Given the description of an element on the screen output the (x, y) to click on. 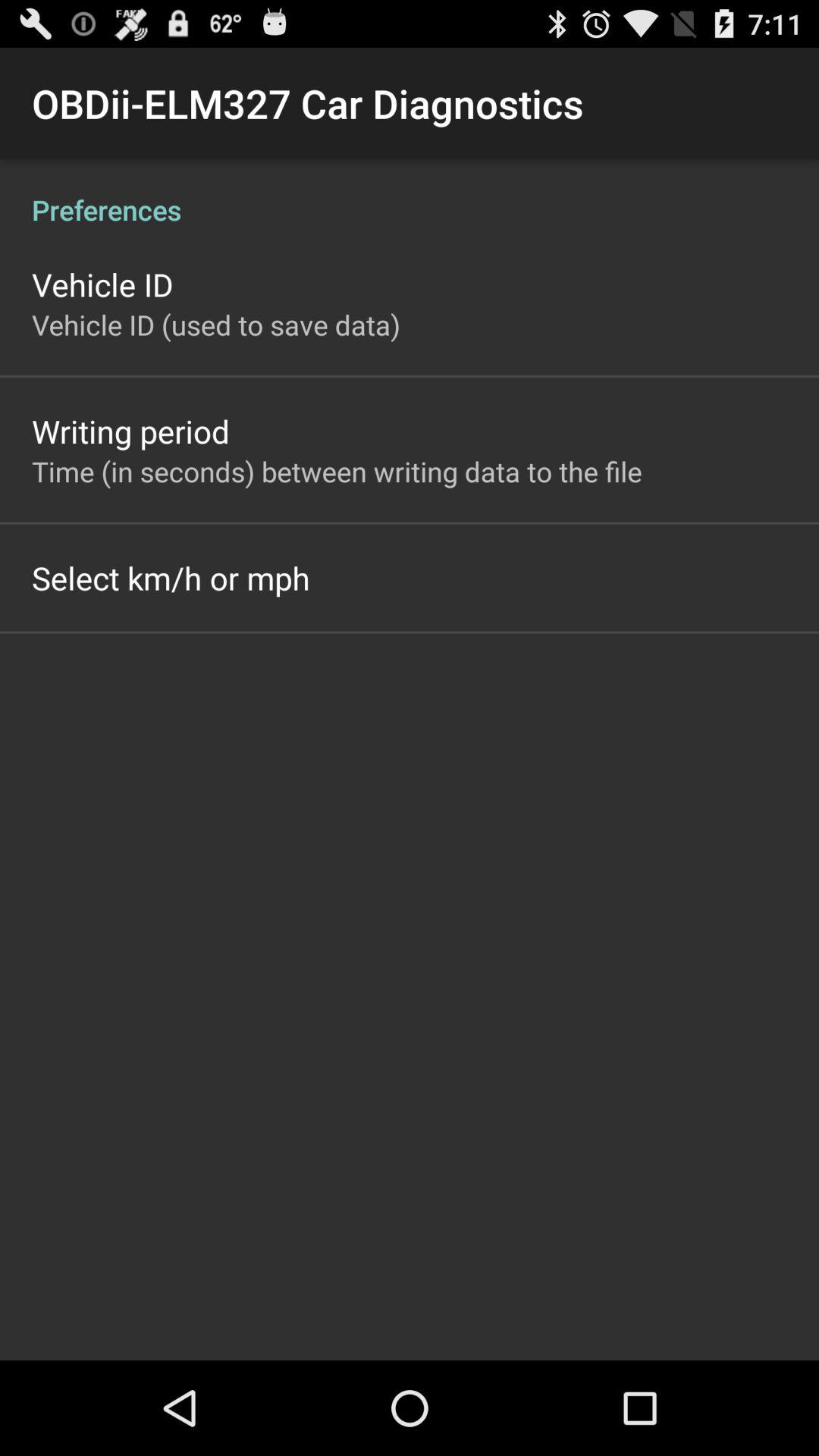
swipe to select km h icon (170, 577)
